Given the description of an element on the screen output the (x, y) to click on. 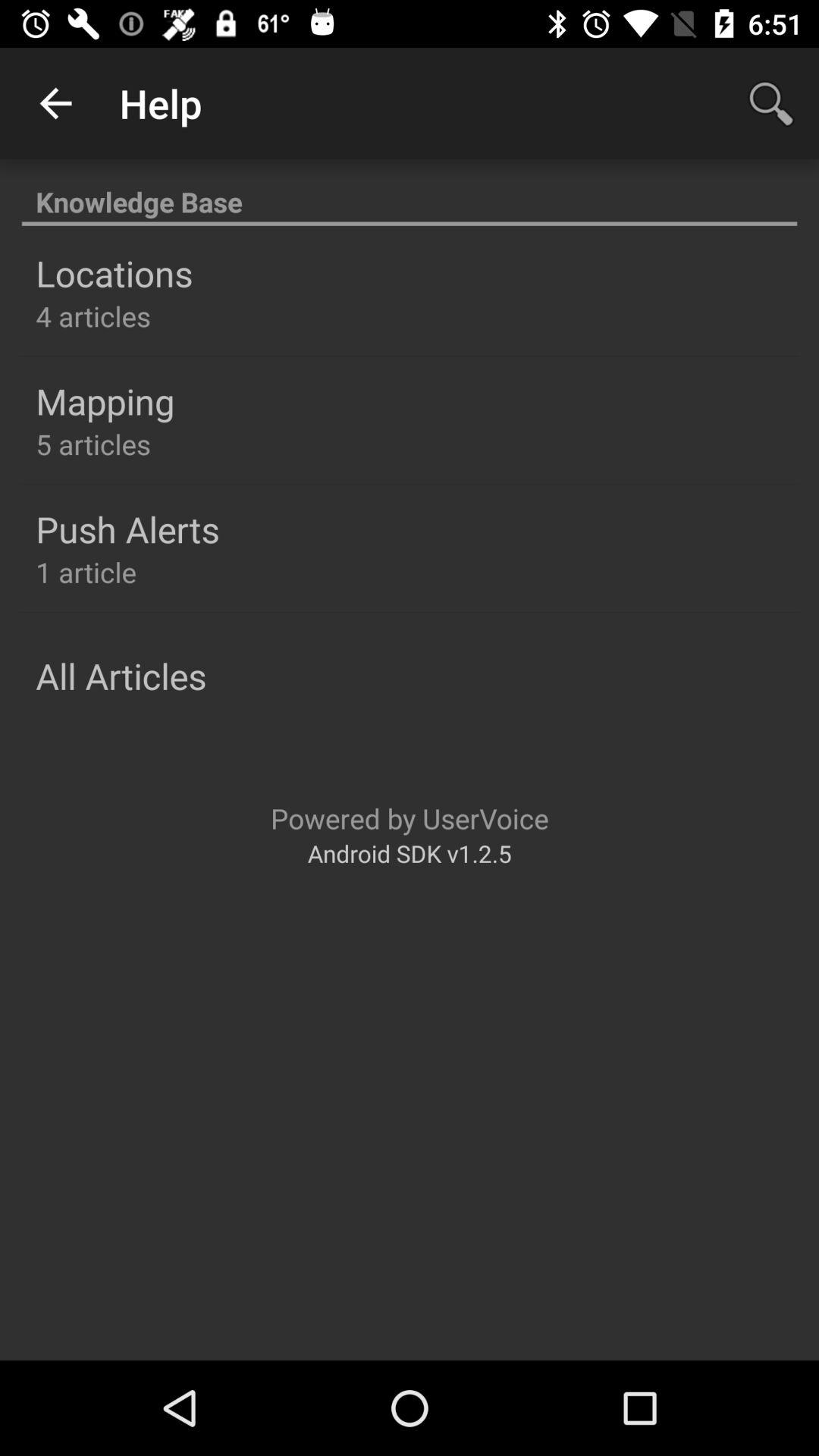
open the icon below mapping icon (92, 443)
